Given the description of an element on the screen output the (x, y) to click on. 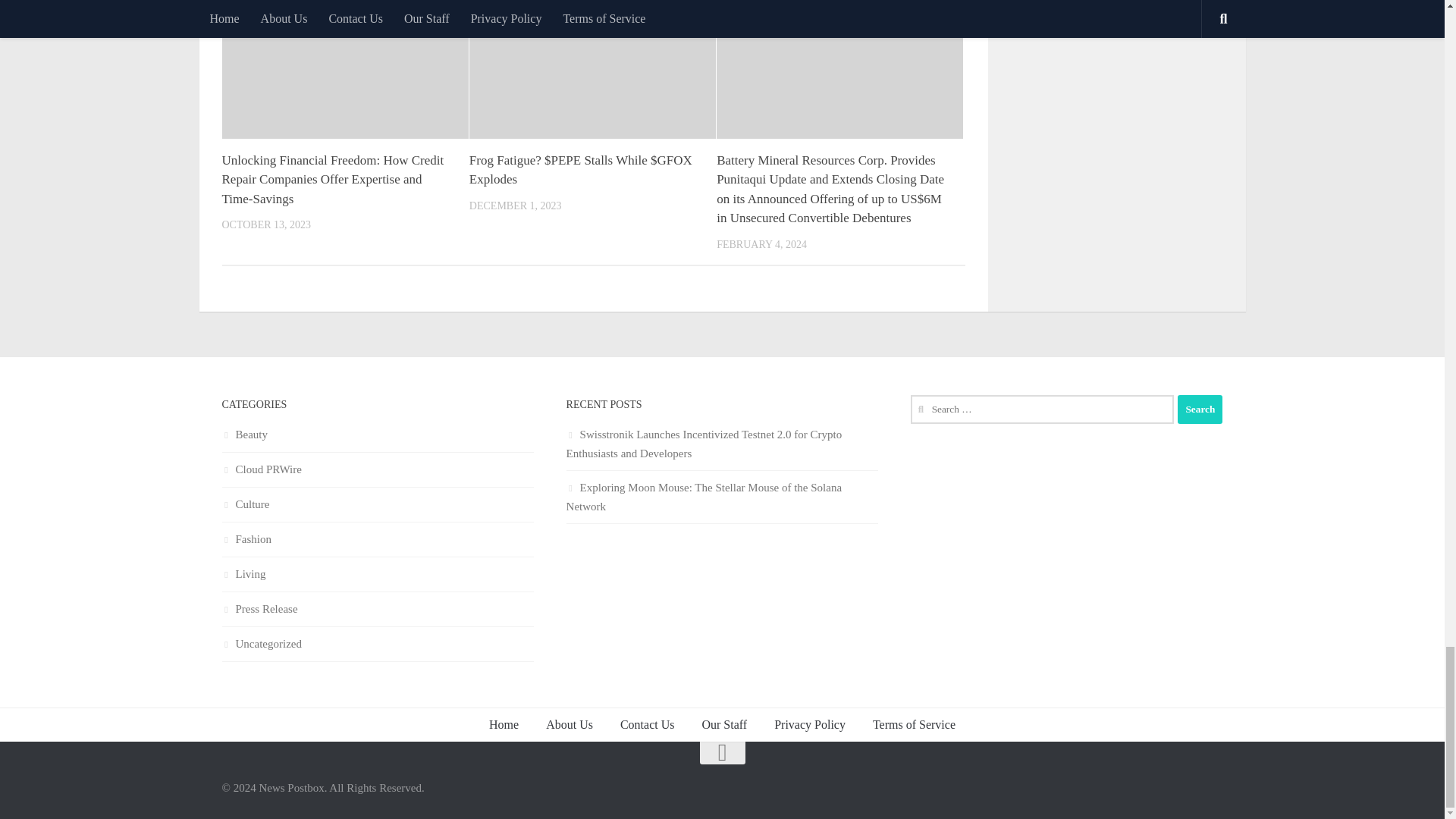
Search (1200, 409)
Search (1200, 409)
